Given the description of an element on the screen output the (x, y) to click on. 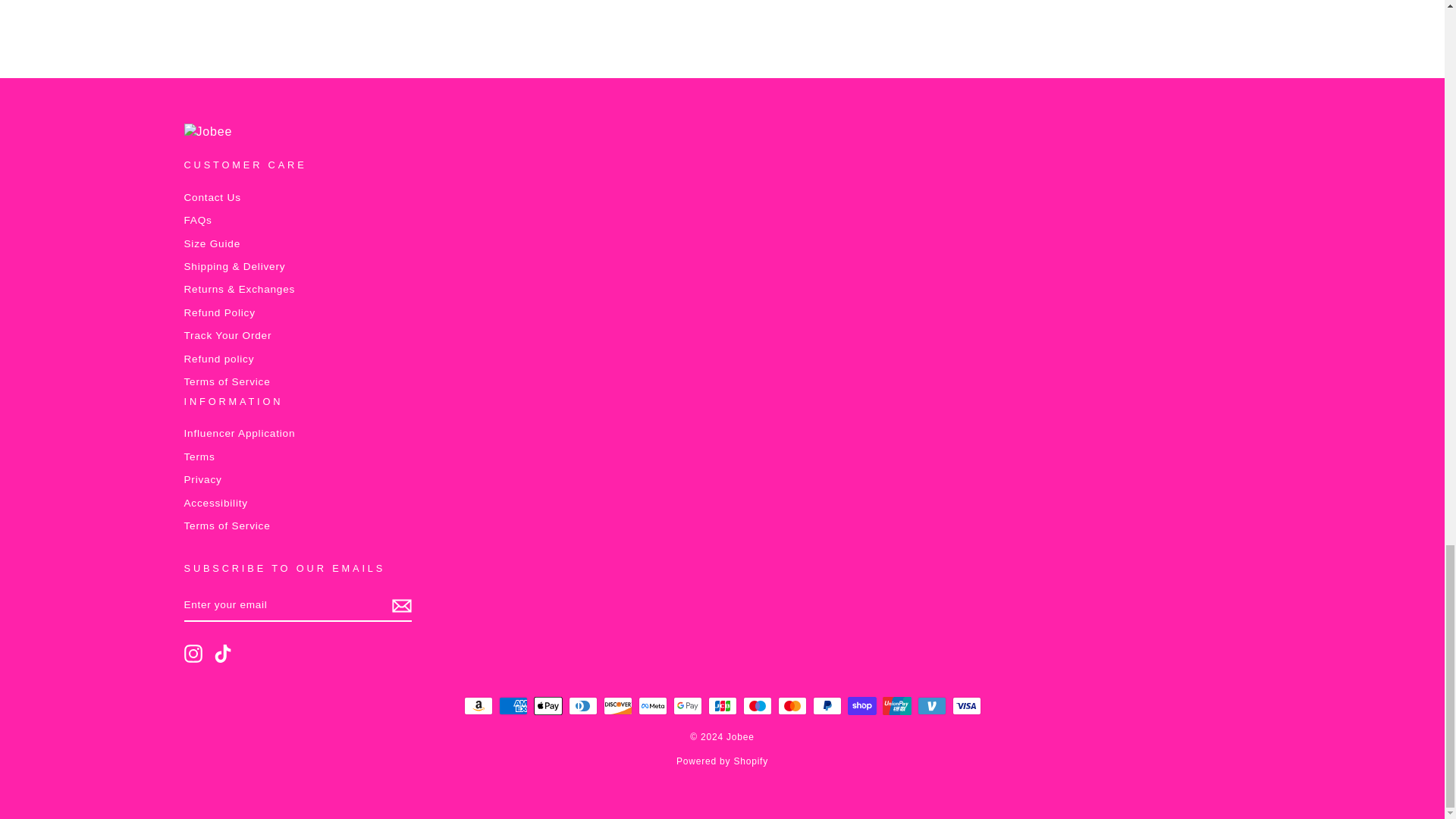
JCB (721, 705)
Diners Club (582, 705)
Jobee on Instagram (192, 653)
American Express (513, 705)
Apple Pay (548, 705)
Maestro (756, 705)
Jobee on TikTok (222, 653)
Google Pay (686, 705)
Meta Pay (652, 705)
Discover (617, 705)
